Given the description of an element on the screen output the (x, y) to click on. 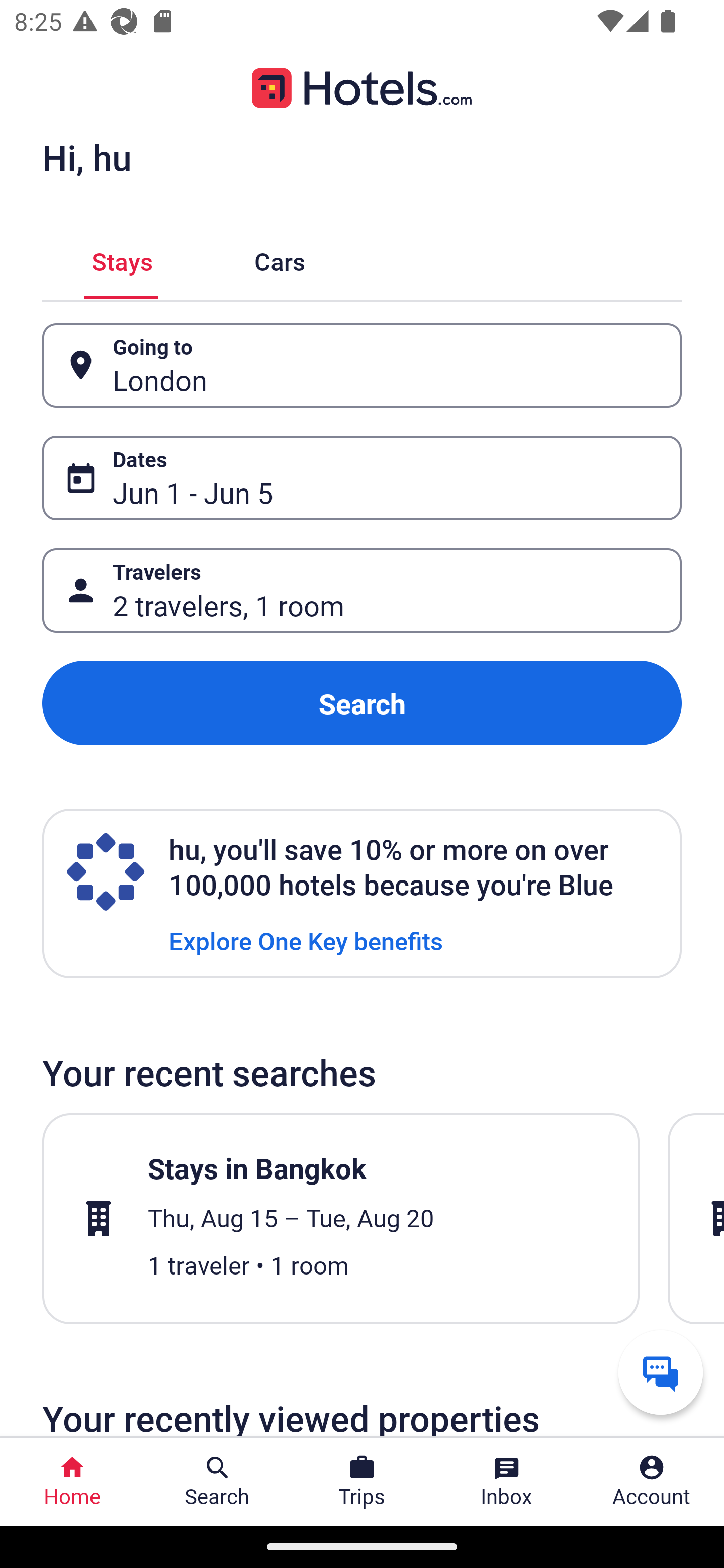
Hi, hu (86, 156)
Cars (279, 259)
Going to Button London (361, 365)
Dates Button Jun 1 - Jun 5 (361, 477)
Travelers Button 2 travelers, 1 room (361, 590)
Search (361, 702)
Get help from a virtual agent (660, 1371)
Search Search Button (216, 1481)
Trips Trips Button (361, 1481)
Inbox Inbox Button (506, 1481)
Account Profile. Button (651, 1481)
